Given the description of an element on the screen output the (x, y) to click on. 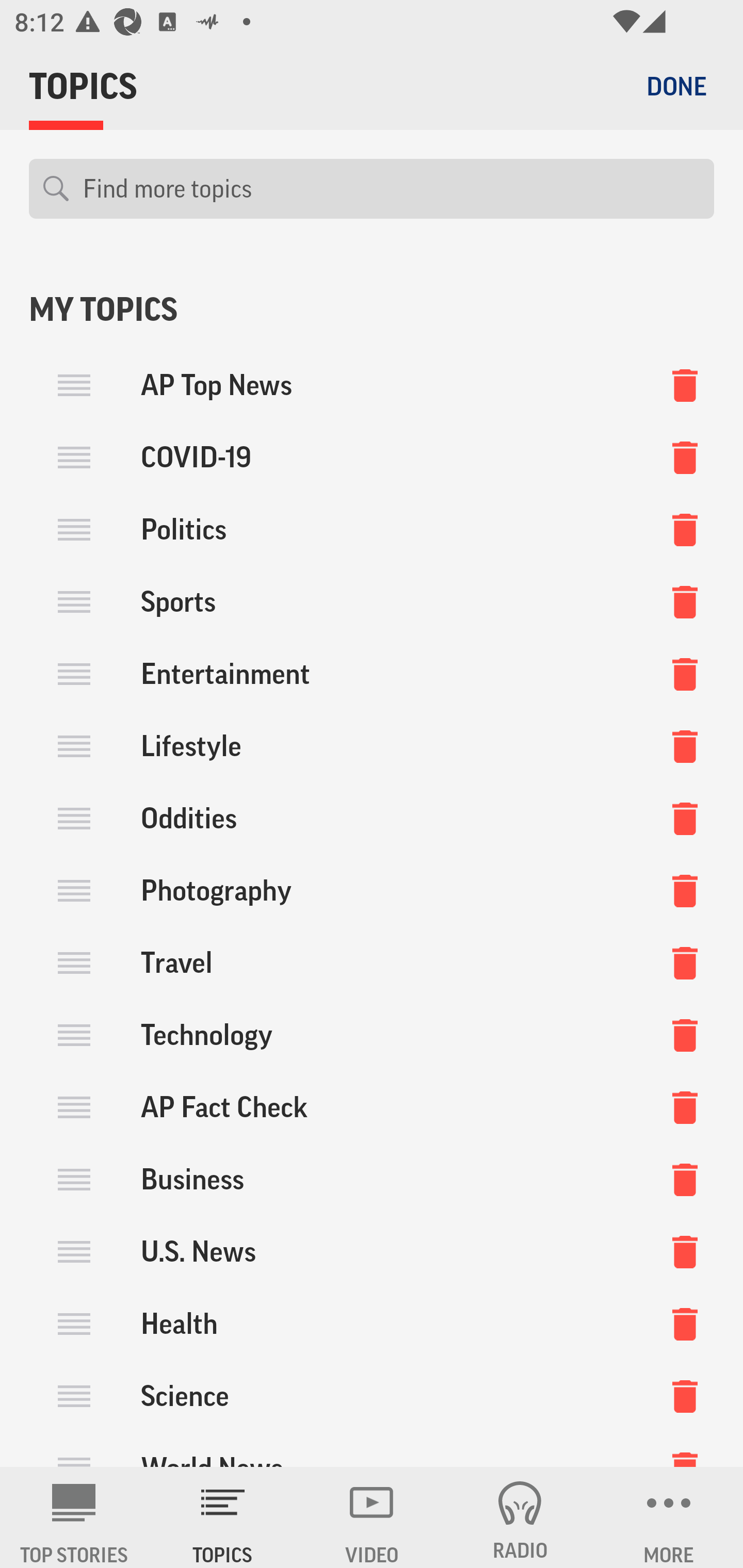
DONE (676, 86)
Find more topics (391, 188)
AP Top News (371, 385)
COVID-19 (371, 457)
Politics (371, 529)
Sports (371, 602)
Entertainment (371, 674)
Lifestyle (371, 746)
Oddities (371, 818)
Photography (371, 890)
Travel (371, 962)
Technology (371, 1034)
AP Fact Check (371, 1106)
Business (371, 1179)
U.S. News (371, 1251)
Health (371, 1323)
Science (371, 1395)
AP News TOP STORIES (74, 1517)
TOPICS (222, 1517)
VIDEO (371, 1517)
RADIO (519, 1517)
MORE (668, 1517)
